Given the description of an element on the screen output the (x, y) to click on. 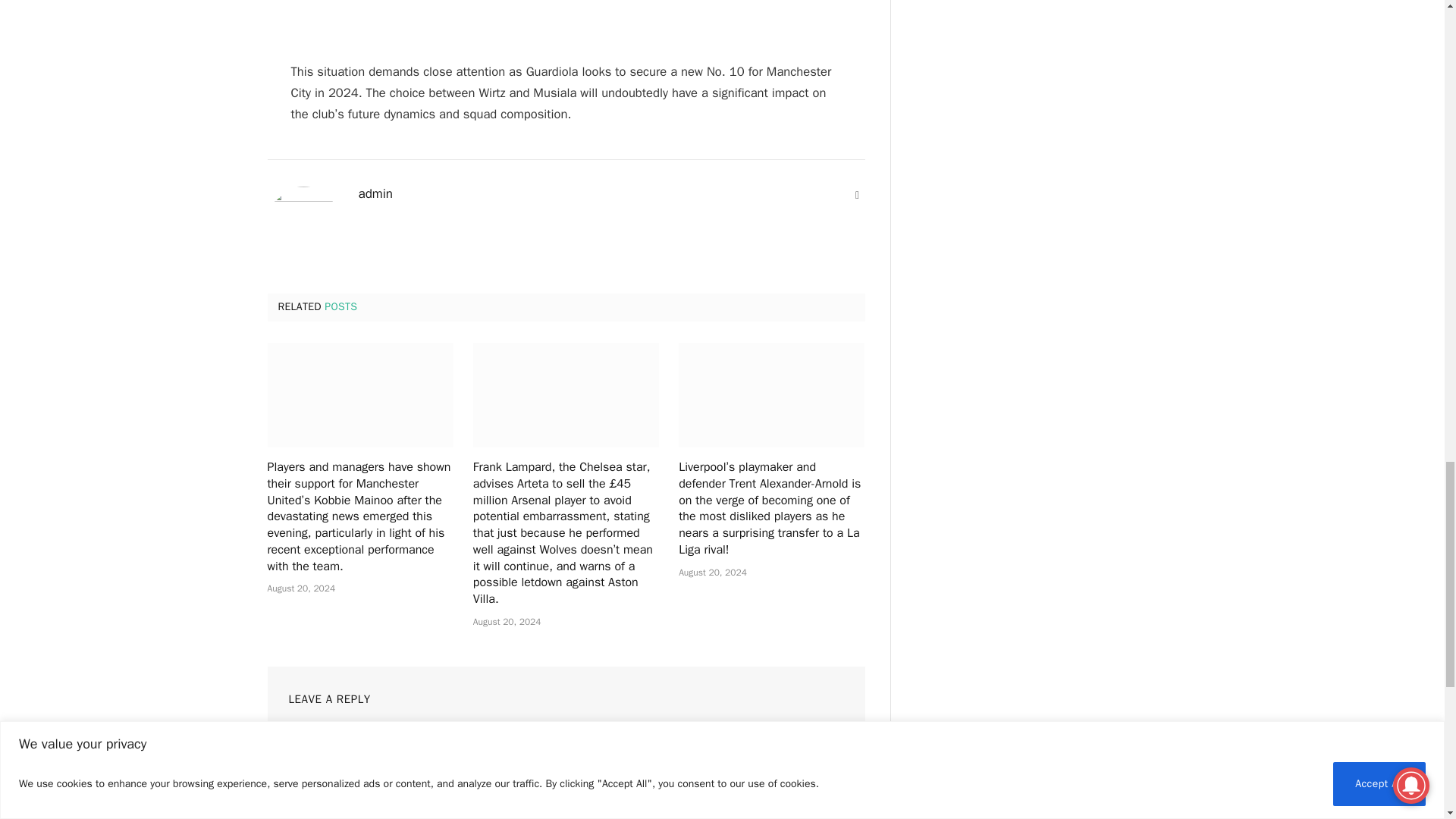
admin (375, 193)
Posts by admin (375, 193)
Website (856, 195)
Website (856, 195)
